Given the description of an element on the screen output the (x, y) to click on. 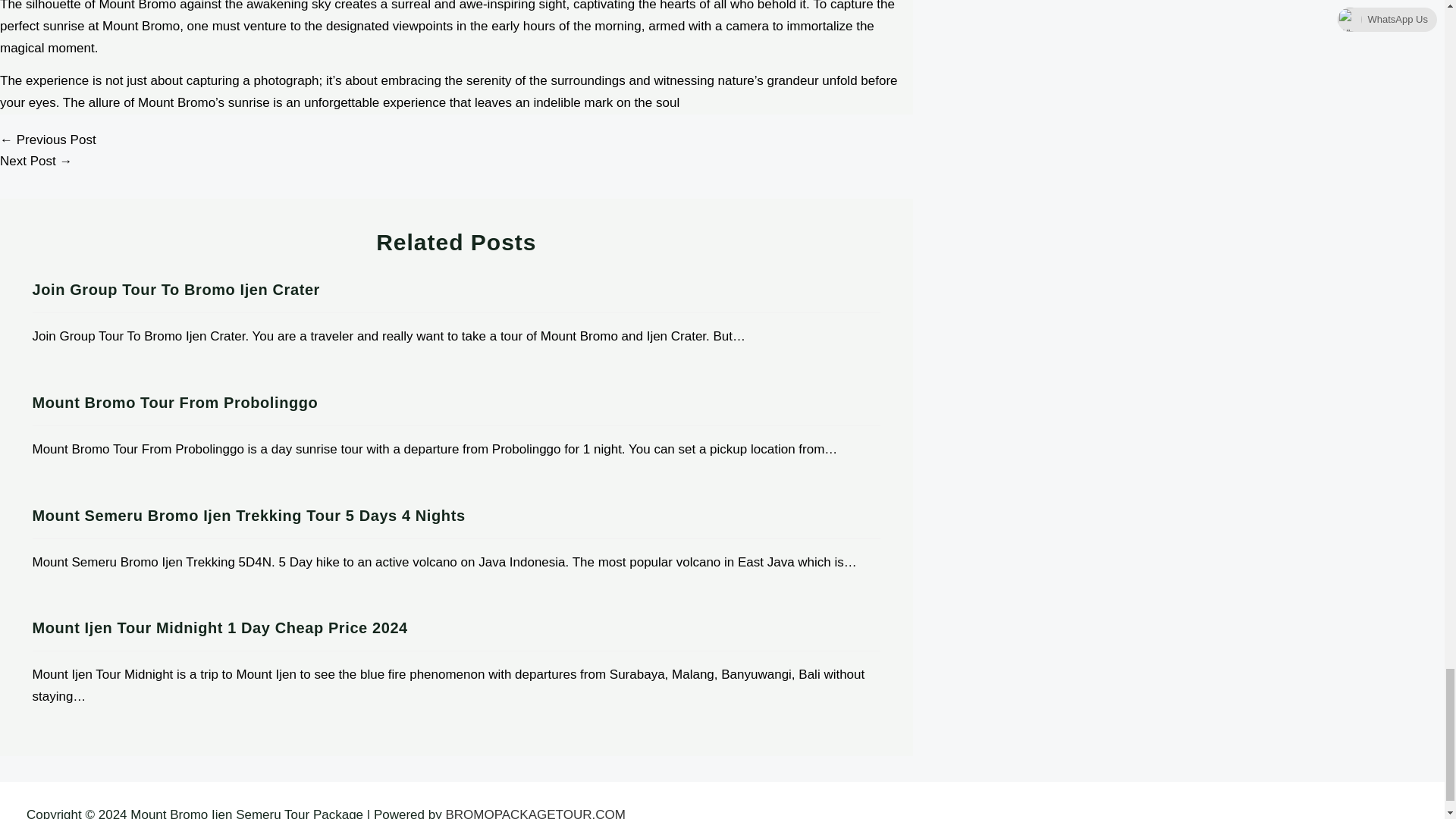
Mount Bromo Tour From Probolinggo (174, 402)
Mount Semeru Bromo Ijen Trekking Tour 5 Days 4 Nights (248, 515)
Join Group Tour To Bromo Ijen Crater (175, 289)
Revisiting History: Mount Bromo'S Last Eruption Unraveled (35, 160)
